Given the description of an element on the screen output the (x, y) to click on. 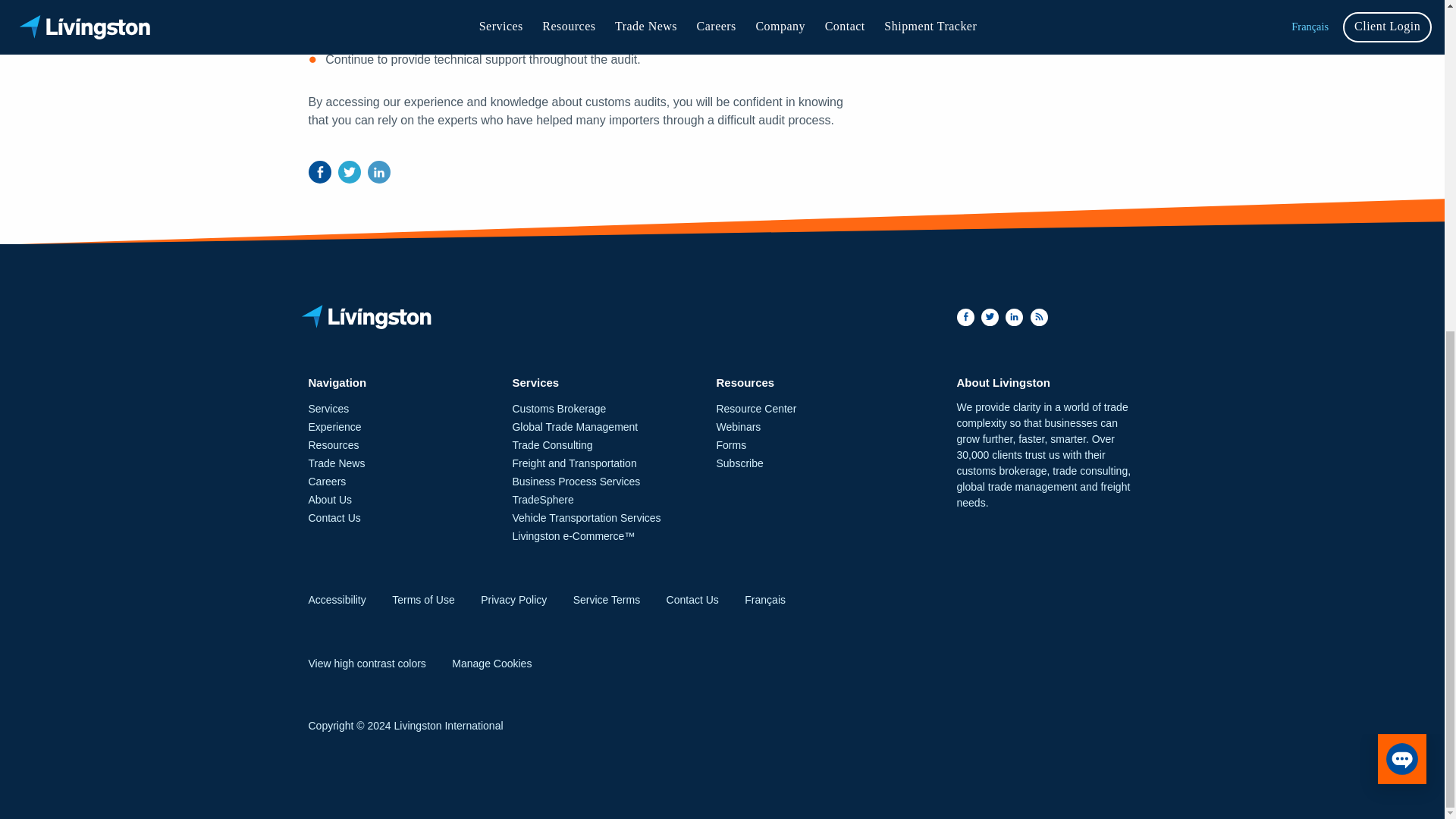
Livingston International (613, 316)
Chat with bot (1401, 207)
Simplify Trade (368, 316)
